Given the description of an element on the screen output the (x, y) to click on. 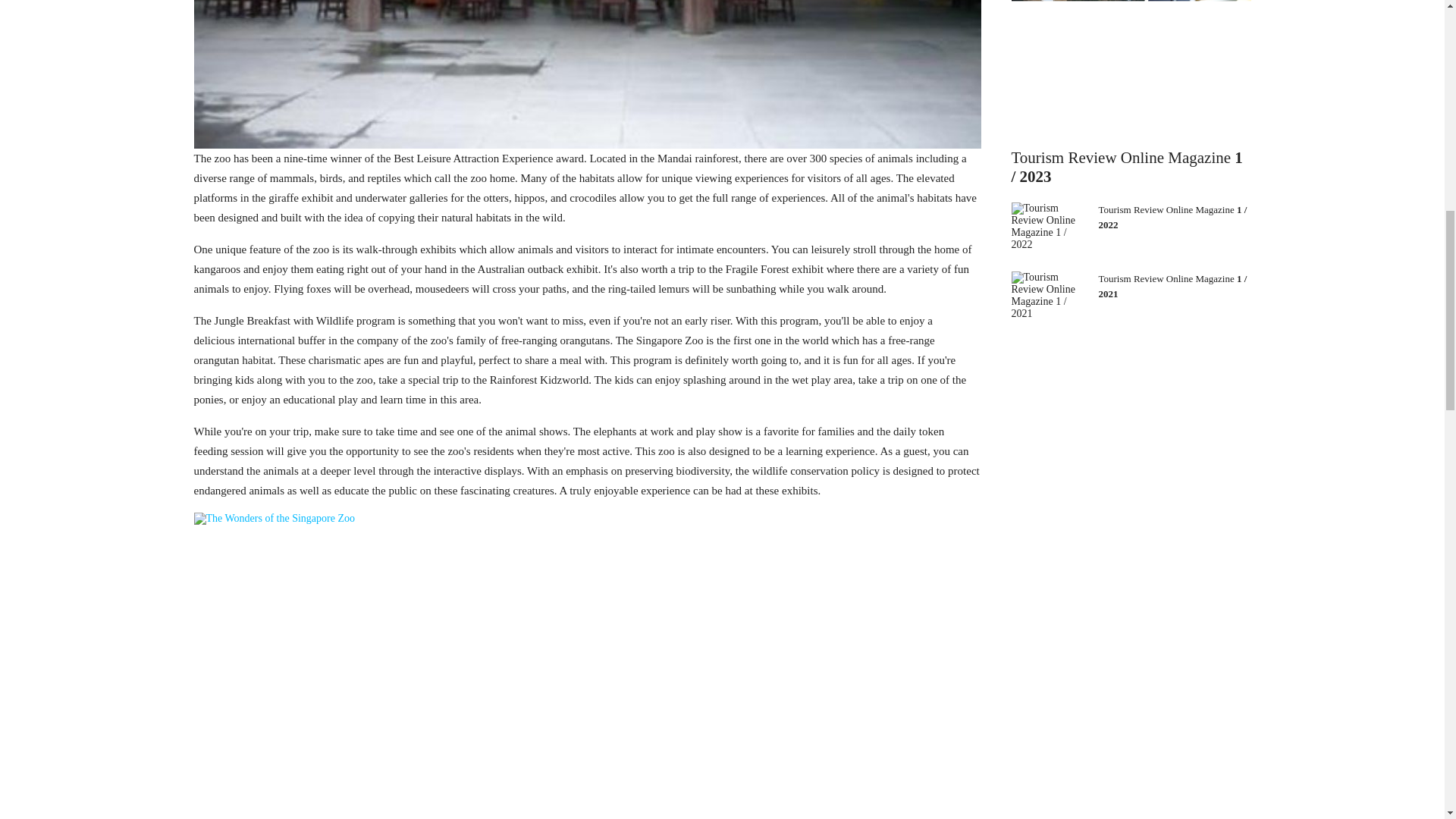
The Wonders of the Singapore Zoo (587, 74)
